Given the description of an element on the screen output the (x, y) to click on. 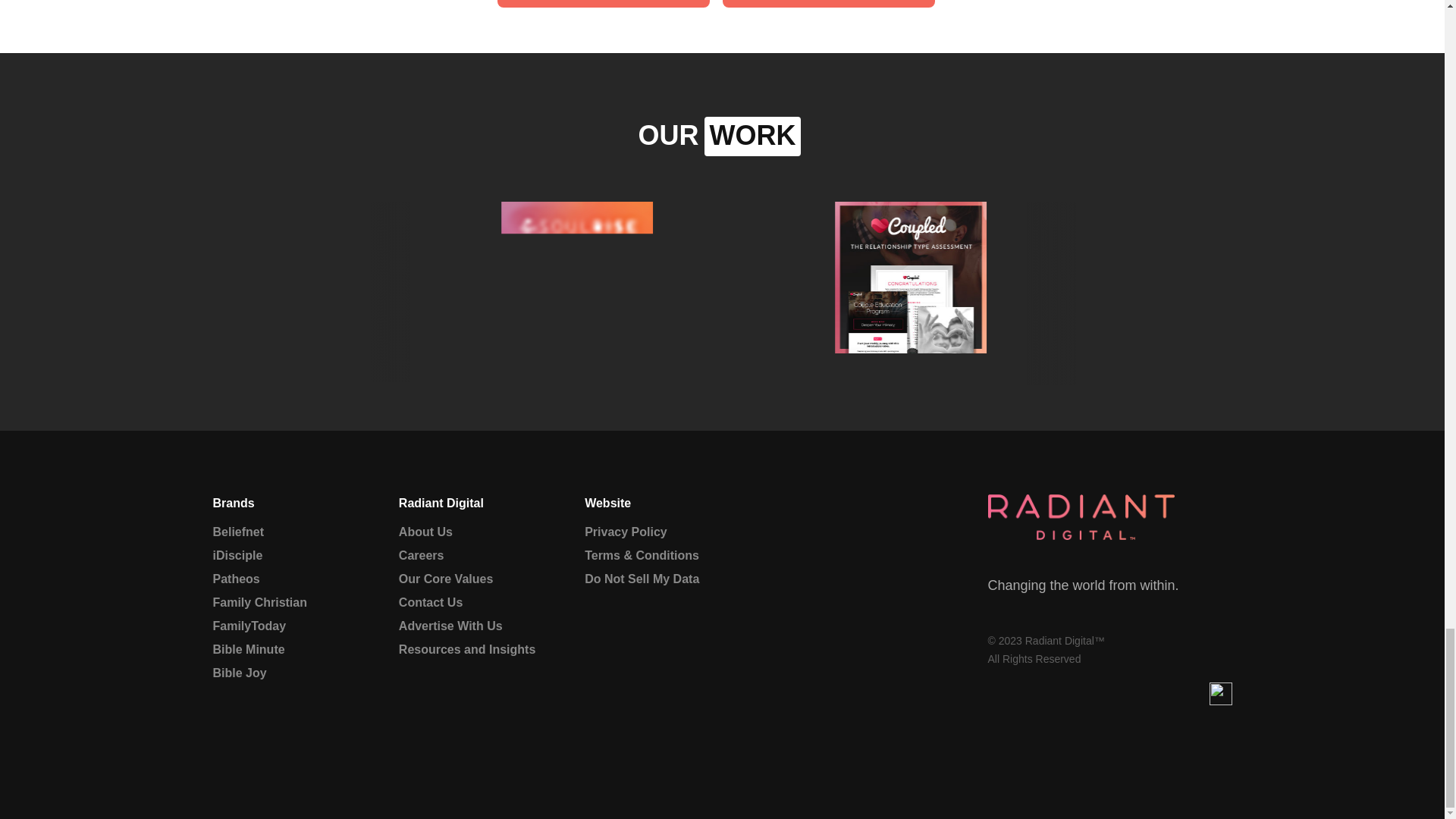
Bible Joy (283, 673)
About Us (469, 532)
Visit Website (603, 3)
Advertise With Us (828, 3)
Careers (469, 556)
FamilyToday (283, 626)
iDisciple (283, 556)
Beliefnet (283, 532)
Our Core Values (469, 579)
Contact Us (469, 602)
Patheos (283, 579)
Family Christian (283, 602)
Bible Minute (283, 649)
